Given the description of an element on the screen output the (x, y) to click on. 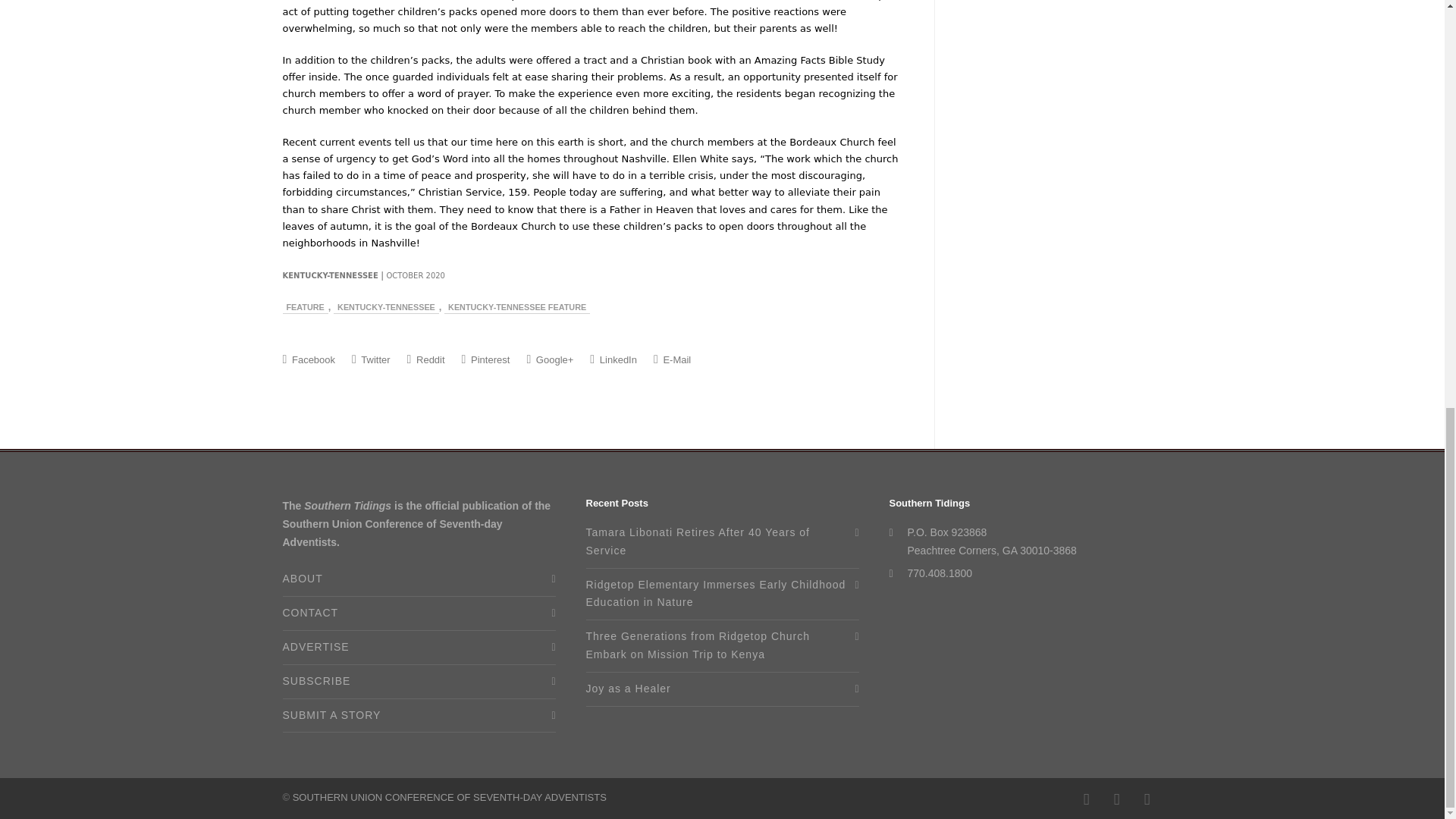
Share via Tumblr (426, 359)
Share via Twitter (371, 359)
Share via Pinterest (486, 359)
Share via LinkedIn (613, 359)
Instagram (1115, 798)
Facebook (1085, 798)
Twitter (1146, 798)
Share via Facebook (308, 359)
Share via E-Mail (671, 359)
